Given the description of an element on the screen output the (x, y) to click on. 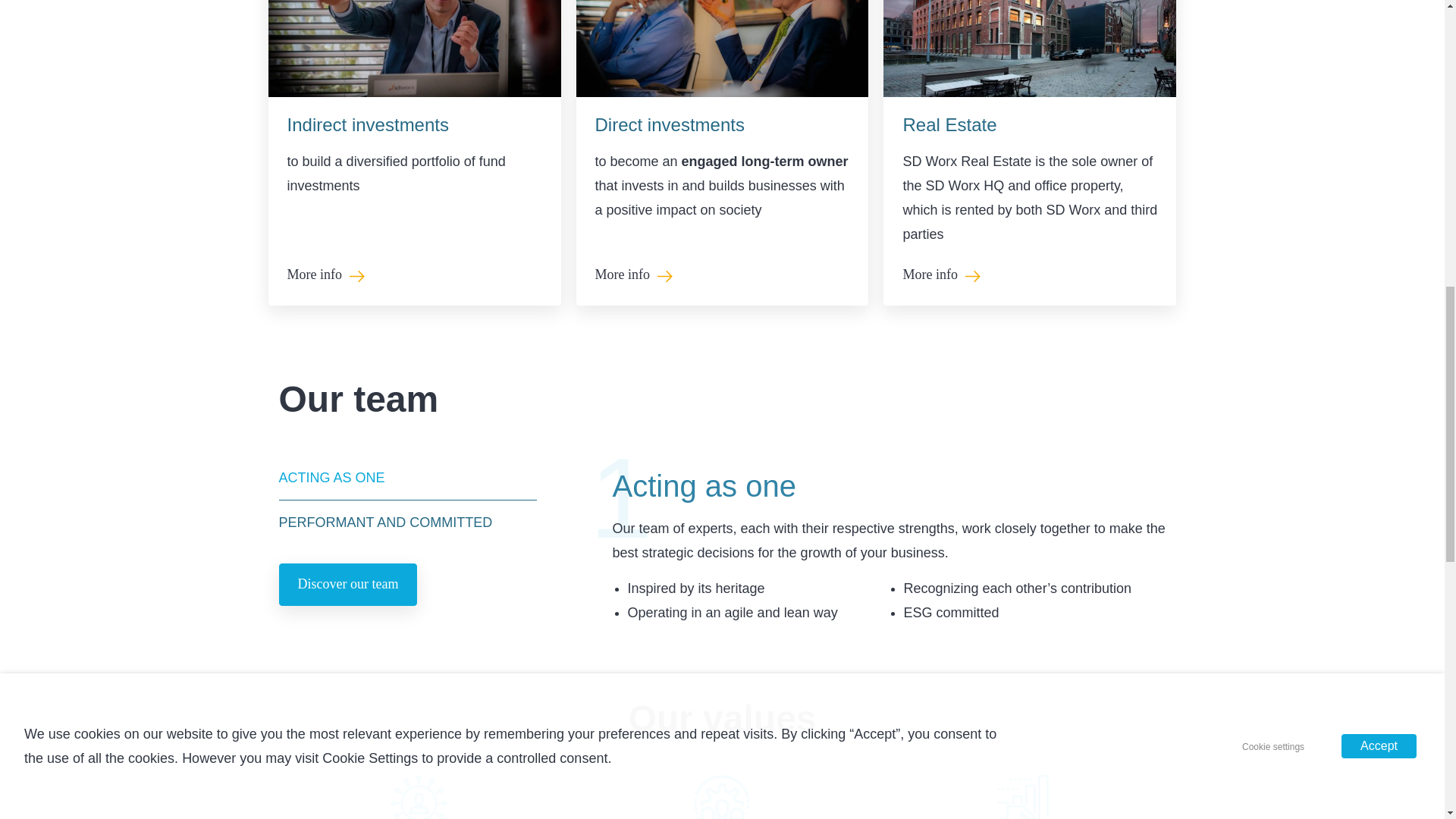
More info (622, 274)
approach (418, 796)
More info (314, 274)
stakeholder (722, 796)
test (1025, 796)
More info (929, 274)
More info (622, 274)
More info (929, 274)
More info (314, 274)
Discover our team (348, 584)
Discover our team (348, 584)
